Given the description of an element on the screen output the (x, y) to click on. 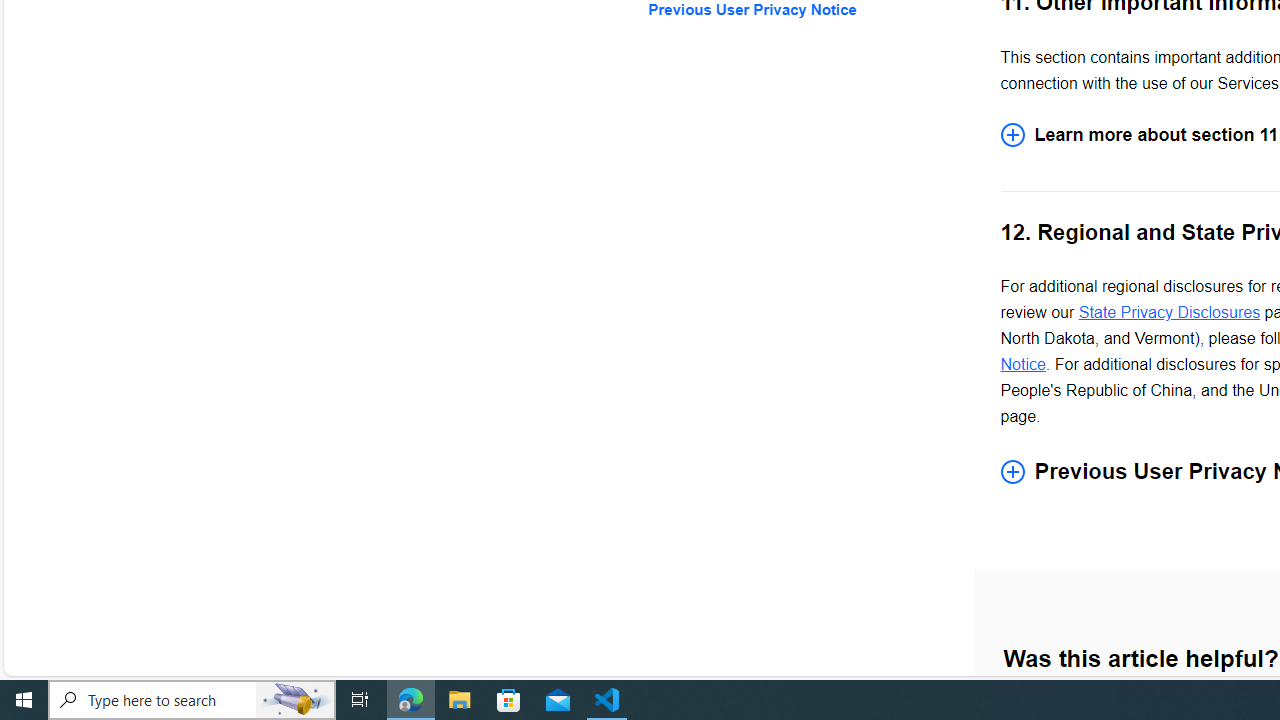
State Privacy Disclosures - opens in new window or tab (1168, 312)
